Given the description of an element on the screen output the (x, y) to click on. 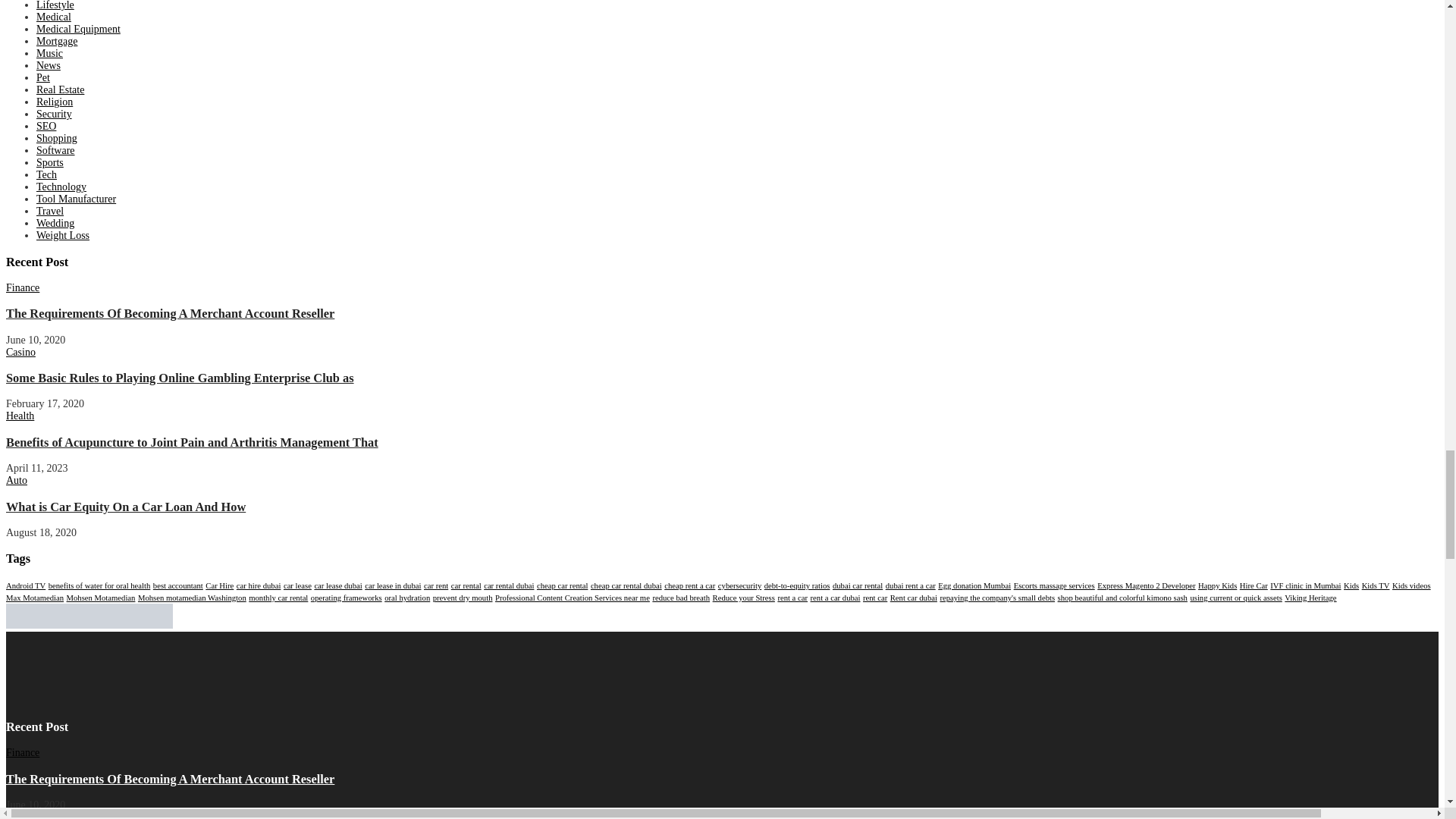
What is Car Equity On a Car Loan And How Can You Use It? (125, 506)
The Requirements Of Becoming A Merchant Account Reseller (169, 779)
The Requirements Of Becoming A Merchant Account Reseller (169, 313)
